Given the description of an element on the screen output the (x, y) to click on. 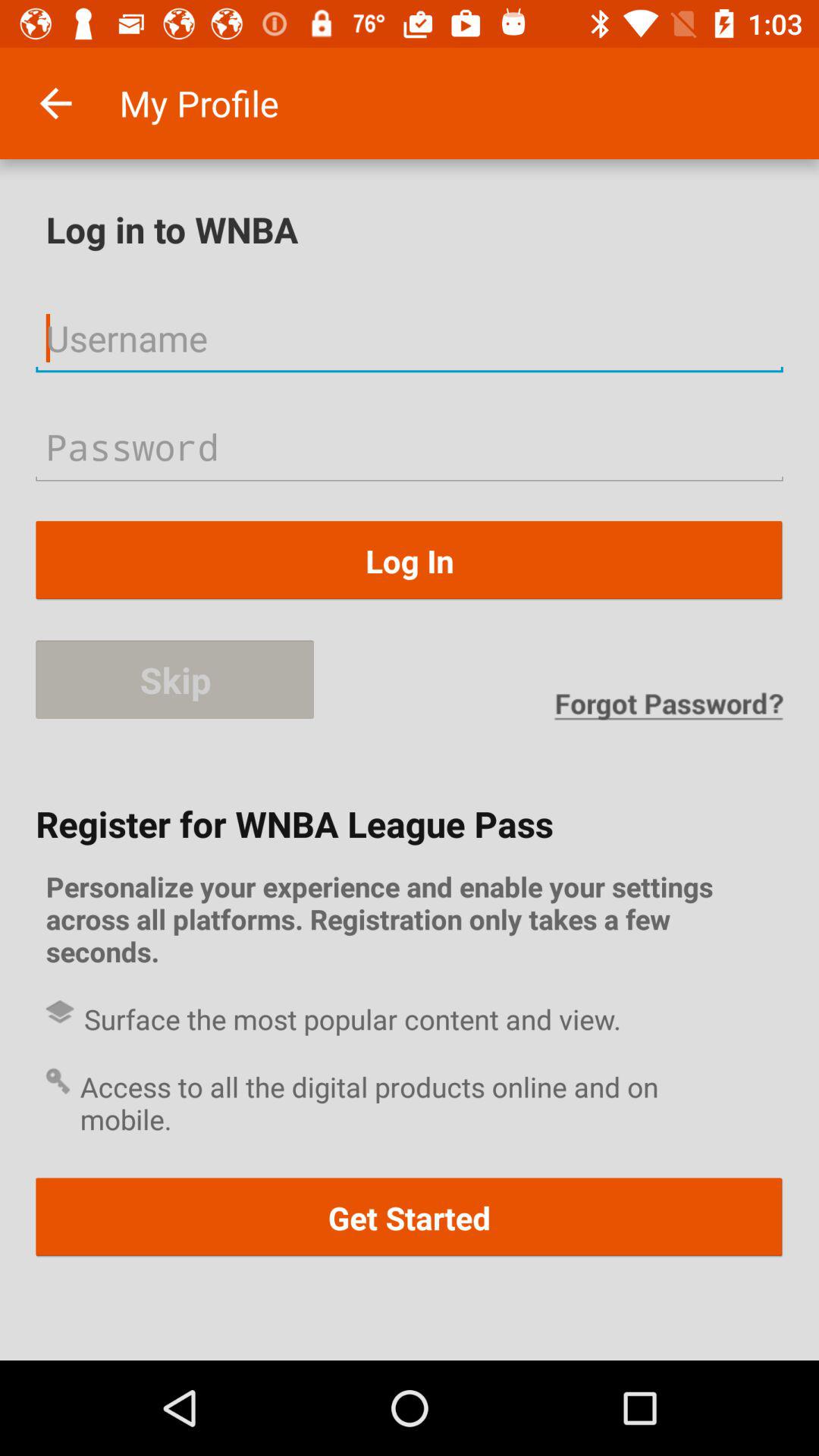
click the icon above log in to item (55, 103)
